Given the description of an element on the screen output the (x, y) to click on. 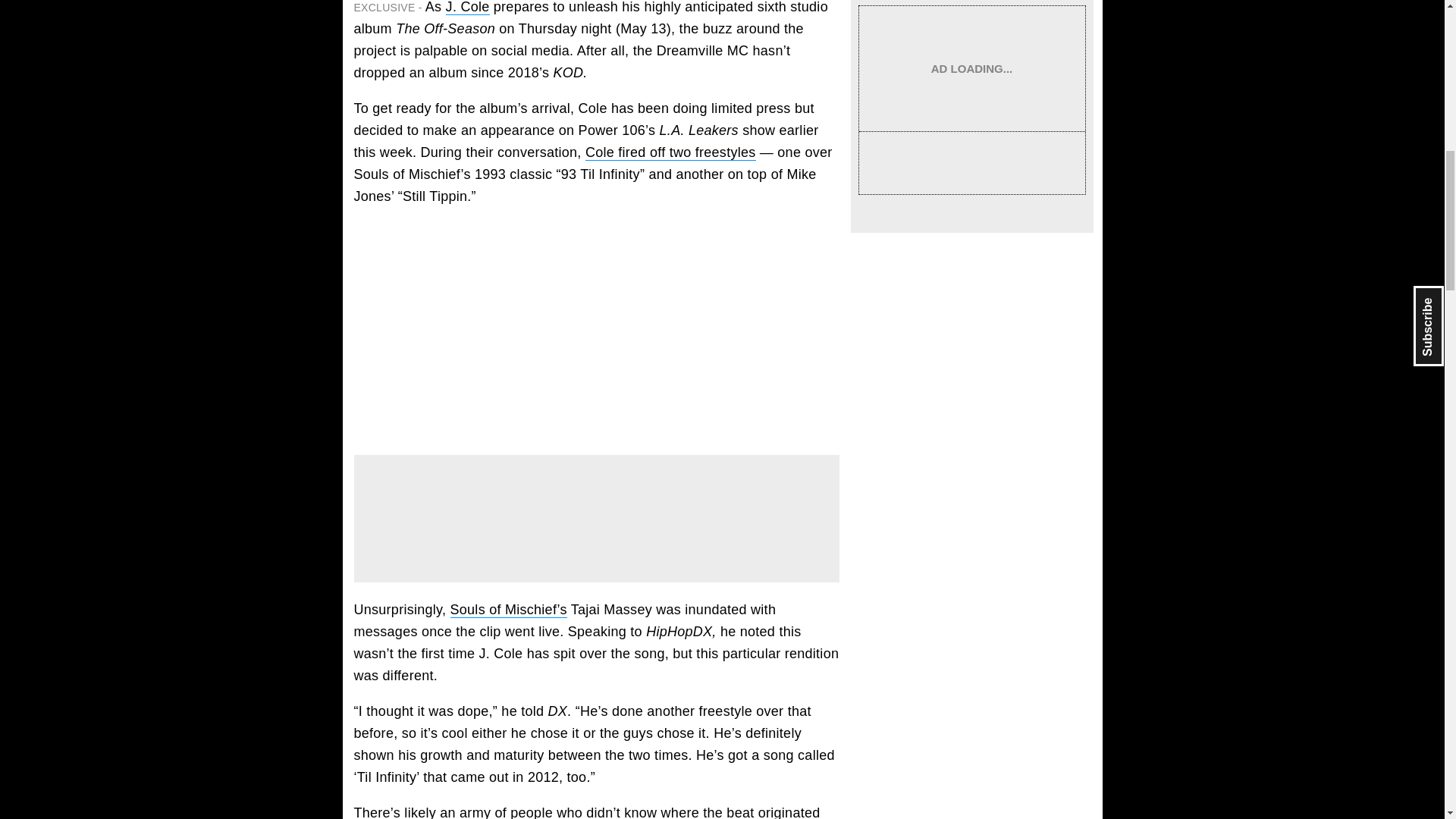
J. Cole (467, 7)
Cole fired off two freestyles (670, 152)
